Given the description of an element on the screen output the (x, y) to click on. 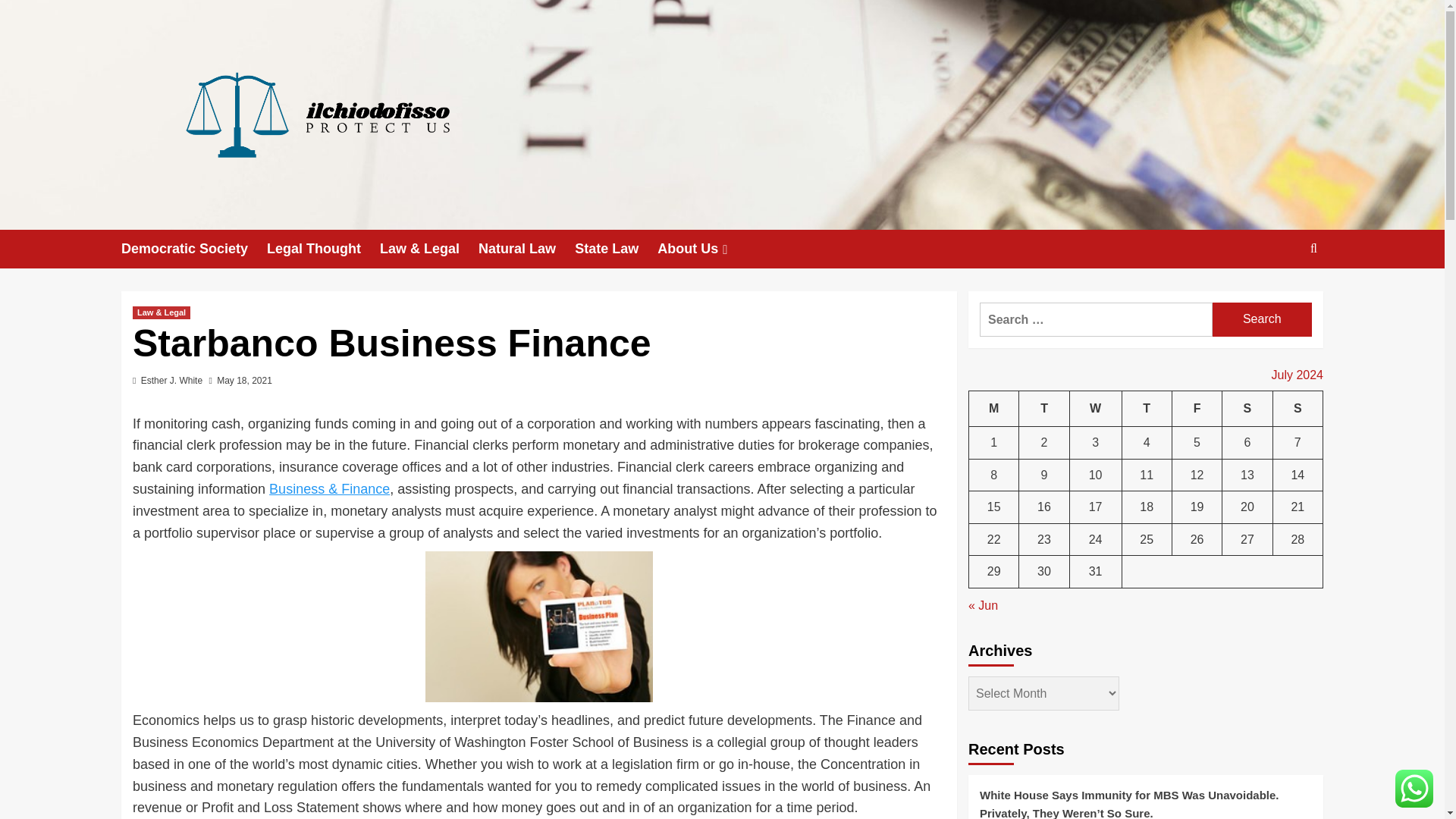
Friday (1196, 408)
Search (1261, 319)
Wednesday (1094, 408)
State Law (616, 249)
Democratic Society (193, 249)
Monday (994, 408)
Legal Thought (323, 249)
Thursday (1146, 408)
Tuesday (1043, 408)
Search (1278, 295)
May 18, 2021 (244, 380)
Natural Law (527, 249)
Saturday (1247, 408)
Esther J. White (171, 380)
About Us (704, 249)
